Given the description of an element on the screen output the (x, y) to click on. 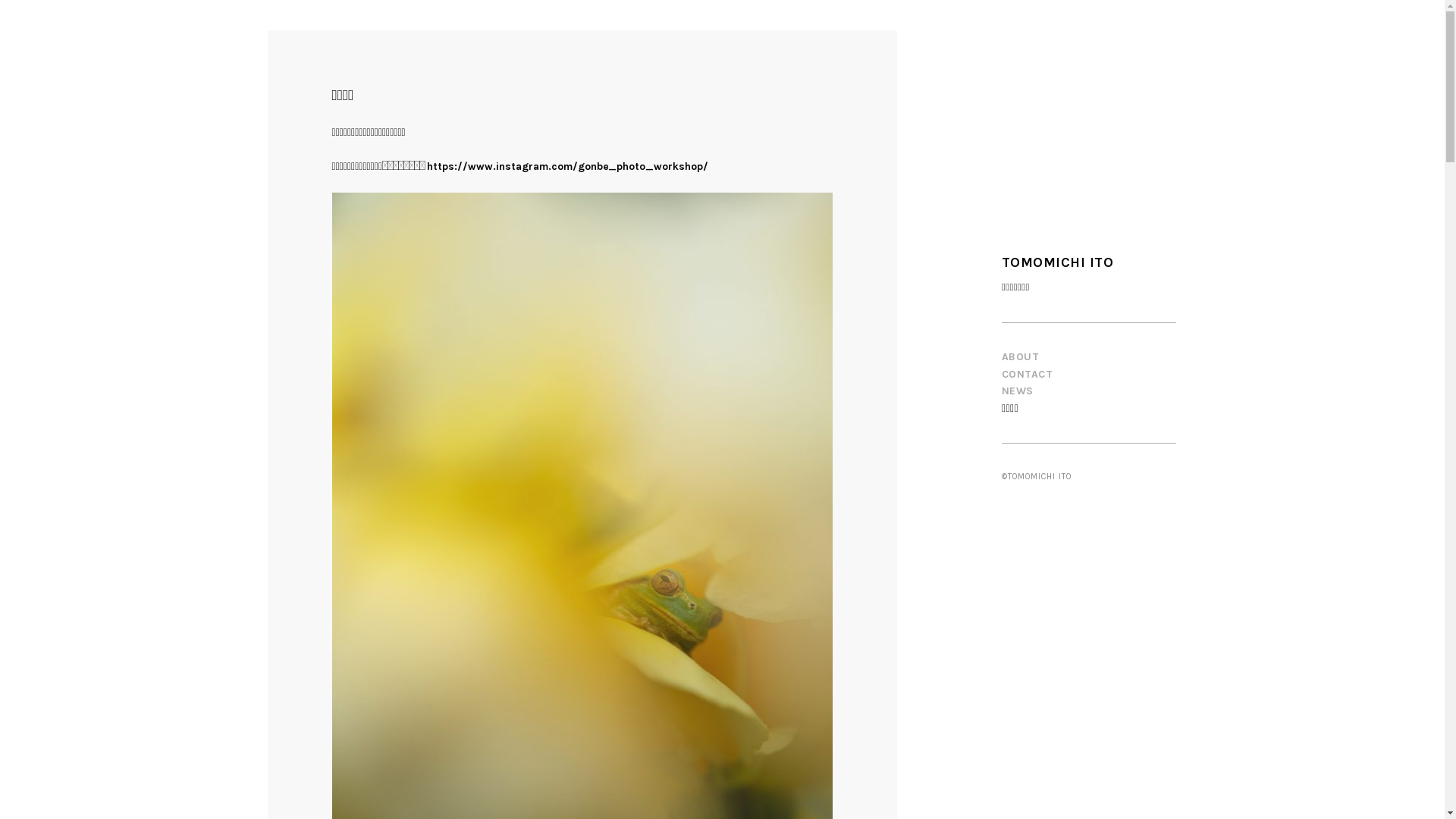
ABOUT Element type: text (1020, 356)
NEWS Element type: text (1017, 390)
https://www.instagram.com/gonbe_photo_workshop/ Element type: text (567, 166)
TOMOMICHI ITO Element type: text (1057, 262)
CONTACT Element type: text (1027, 373)
